Given the description of an element on the screen output the (x, y) to click on. 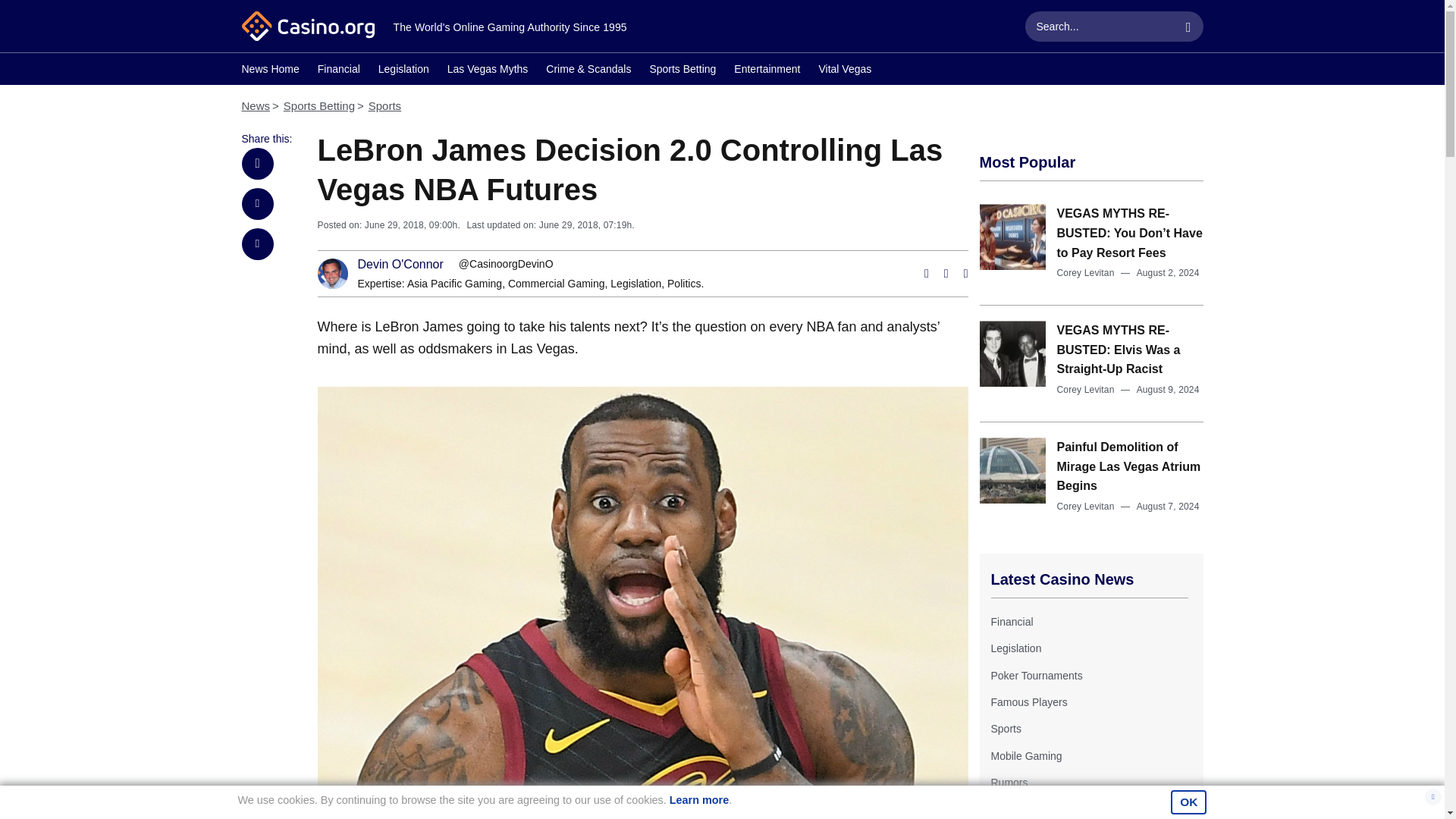
Famous Players (1028, 702)
Rumors (1008, 782)
Financial (1011, 621)
Corey Levitan (1086, 506)
Sports Betting (319, 105)
Legislation (403, 70)
Poker Tournaments (1035, 675)
News (255, 105)
Commercial Gaming (556, 283)
Corey Levitan (1086, 272)
